Given the description of an element on the screen output the (x, y) to click on. 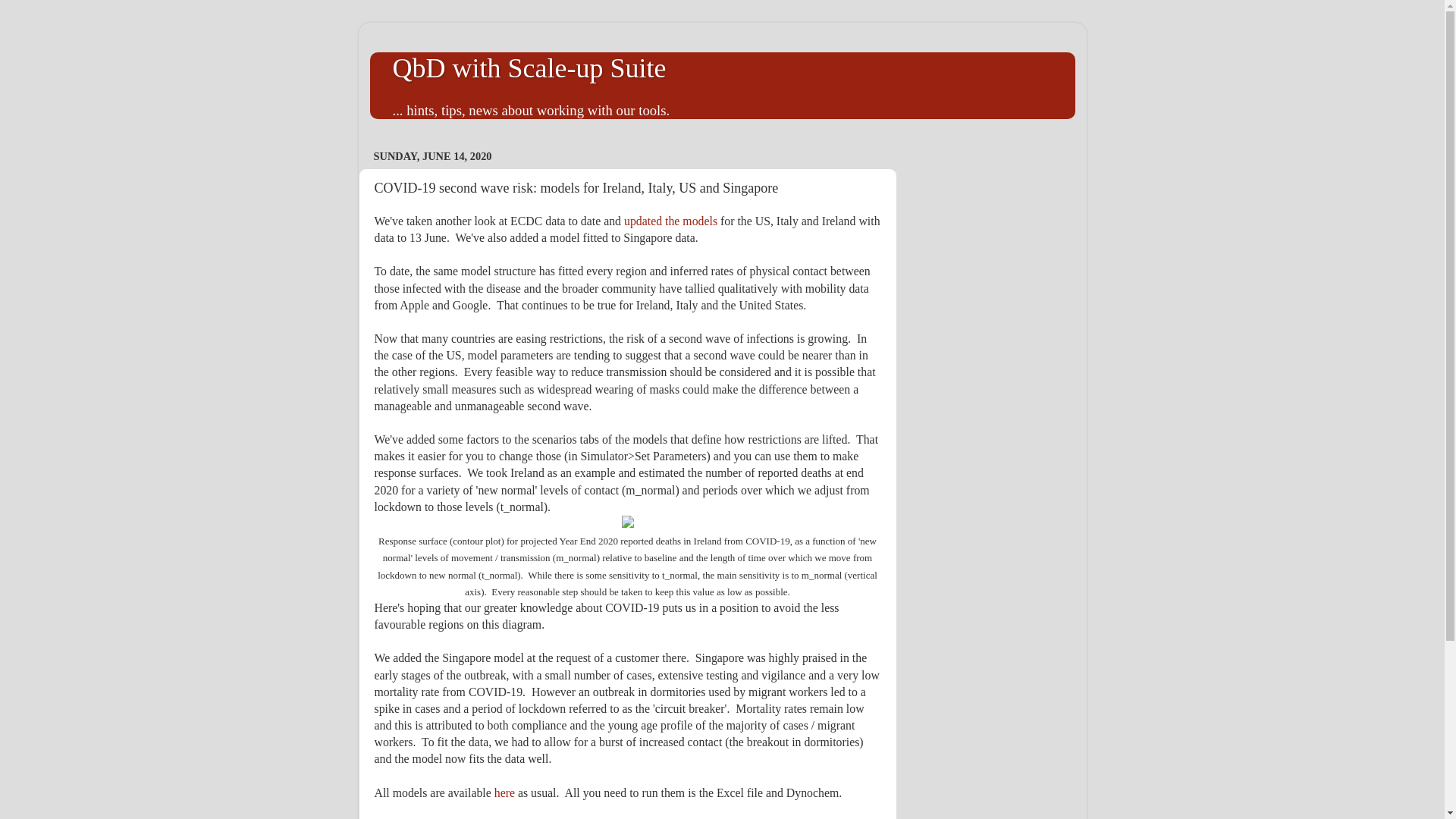
here (506, 792)
updated the models (670, 220)
QbD with Scale-up Suite (529, 68)
